Given the description of an element on the screen output the (x, y) to click on. 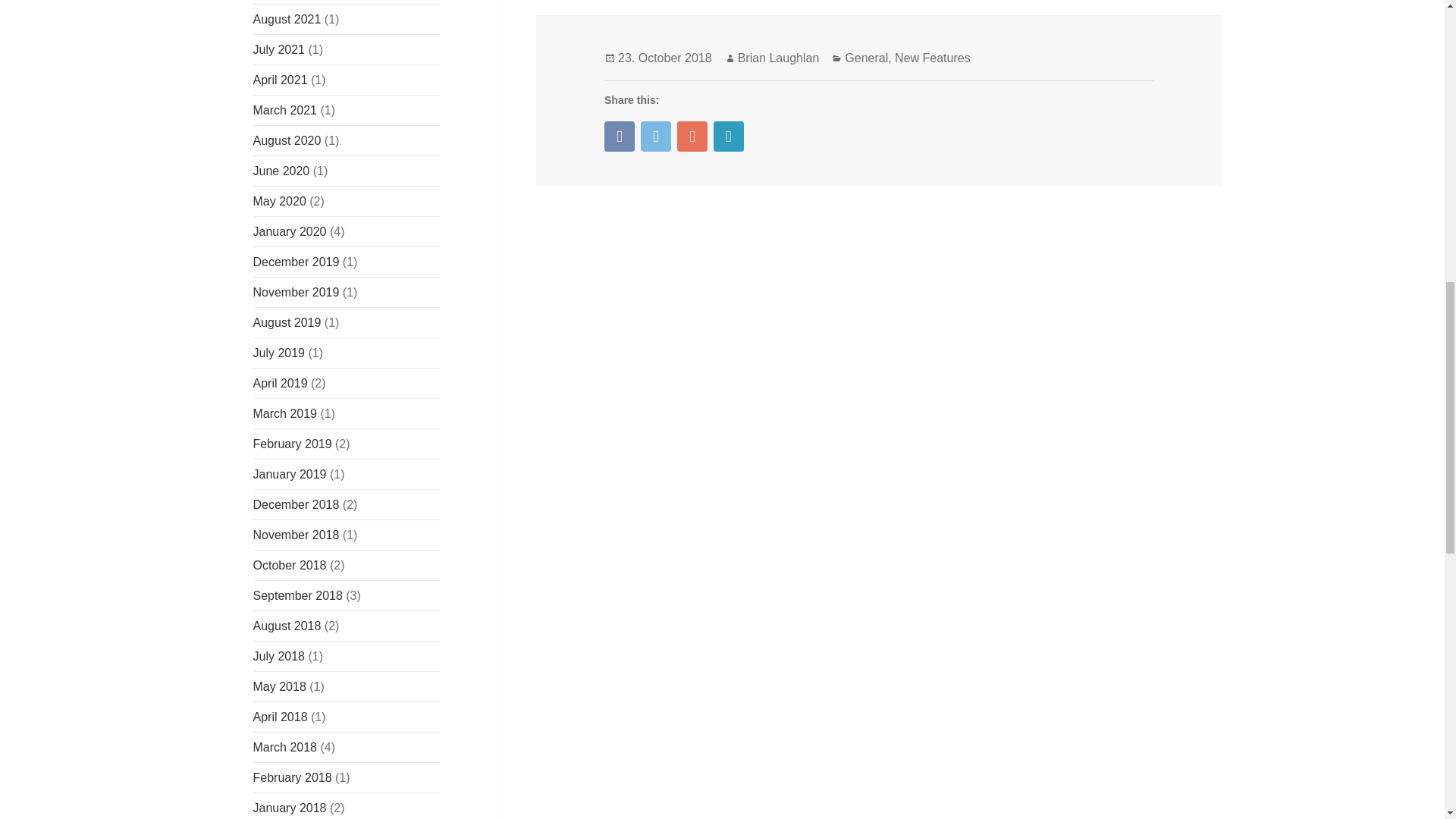
March 2018 (285, 747)
August 2020 (287, 140)
Share on Twitter (655, 136)
January 2019 (289, 473)
February 2019 (292, 443)
June 2020 (281, 170)
November 2018 (296, 534)
July 2018 (279, 656)
May 2020 (279, 201)
February 2018 (292, 777)
